Given the description of an element on the screen output the (x, y) to click on. 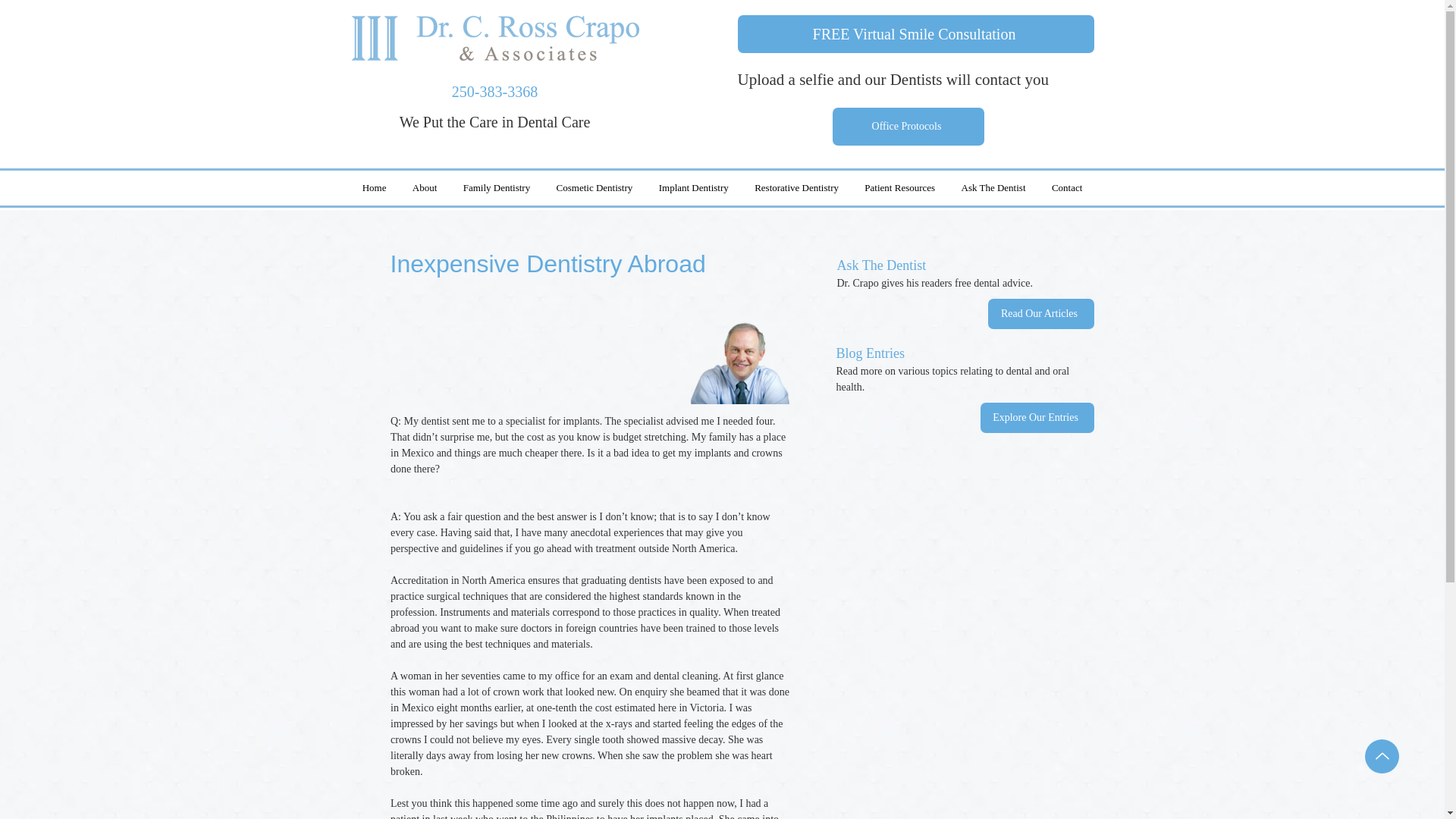
Office Protocols (908, 126)
Cosmetic Dentistry (593, 187)
Family Dentistry (496, 187)
About (424, 187)
Restorative Dentistry (796, 187)
250-383-3368 (494, 91)
FREE Virtual Smile Consultation (914, 34)
Implant Dentistry (693, 187)
Patient Resources (899, 187)
Home (373, 187)
